Given the description of an element on the screen output the (x, y) to click on. 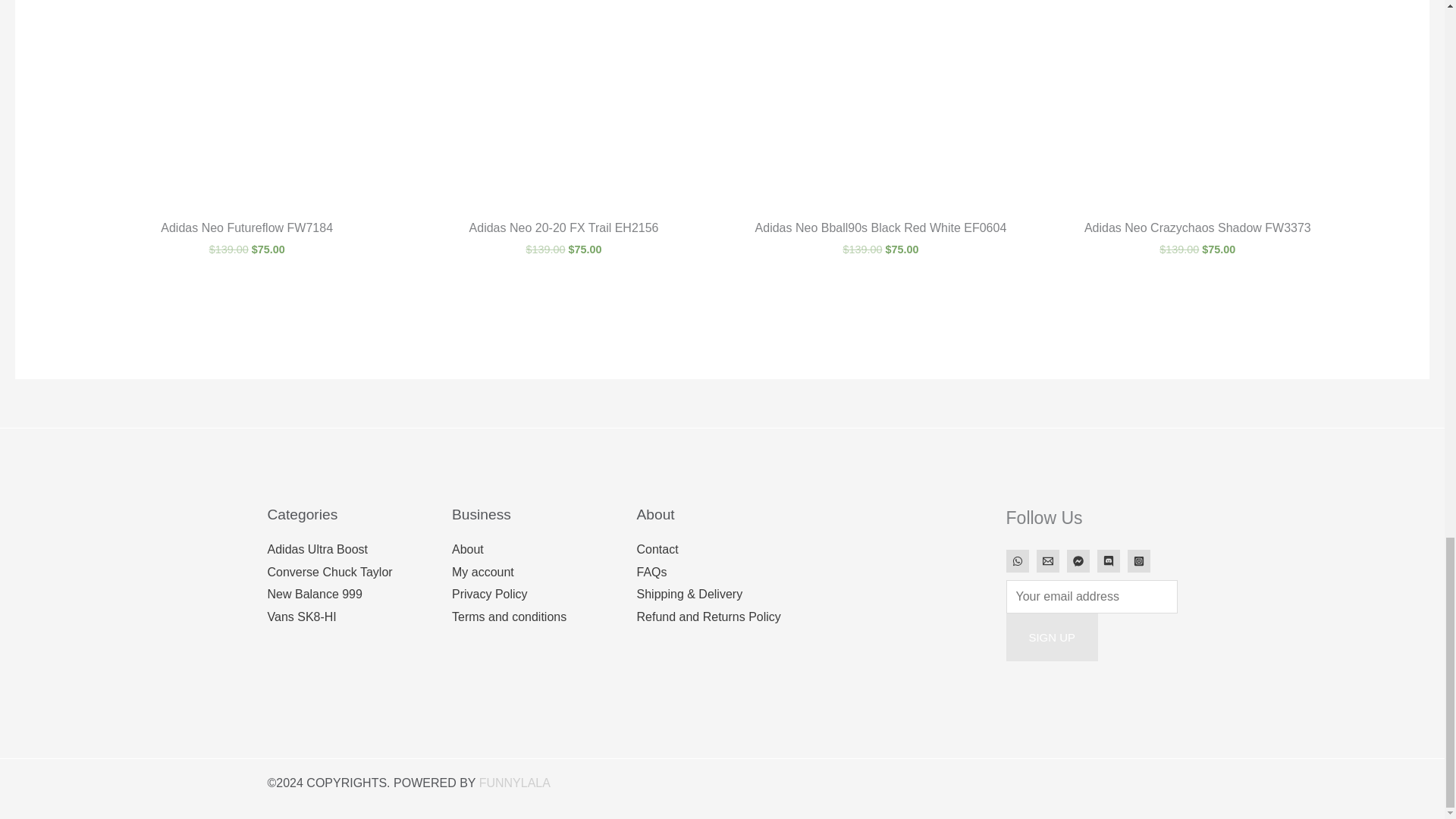
Adidas Neo Crazychaos Shadow FW3373 - Stylish Athletic Shoes (1197, 103)
Sign up (1051, 637)
